Given the description of an element on the screen output the (x, y) to click on. 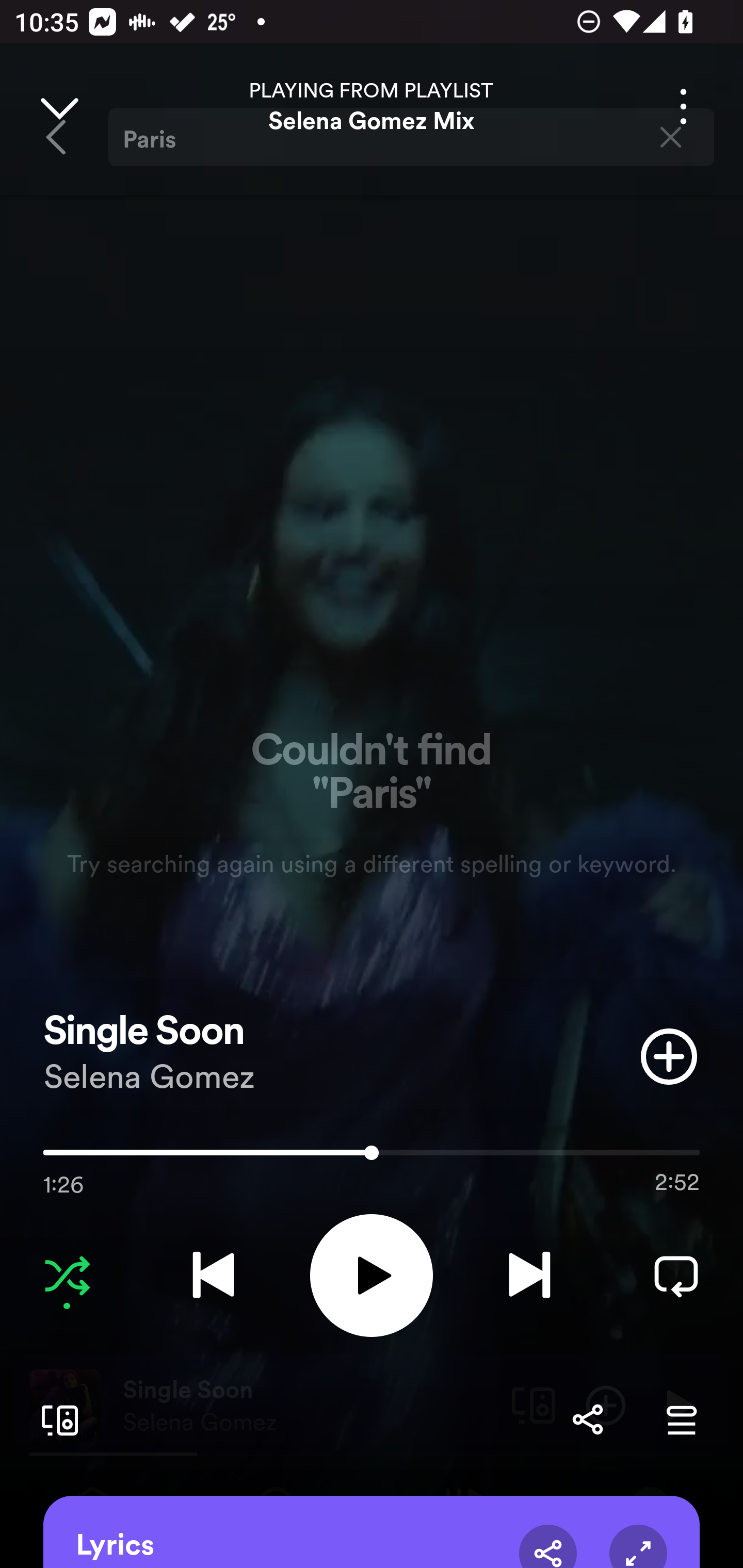
Close (59, 106)
More options for song Single Soon (683, 106)
PLAYING FROM PLAYLIST Selena Gomez Mix (371, 106)
Add item (669, 1056)
1:26 2:52 86000.0 Use volume keys to adjust (371, 1157)
Play (371, 1275)
Previous (212, 1275)
Next (529, 1275)
Stop shuffling tracks (66, 1275)
Repeat (676, 1275)
Share (587, 1419)
Go to Queue (681, 1419)
Connect to a device. Opens the devices menu (55, 1419)
Lyrics Share Expand (371, 1531)
Share (547, 1546)
Expand (638, 1546)
